Given the description of an element on the screen output the (x, y) to click on. 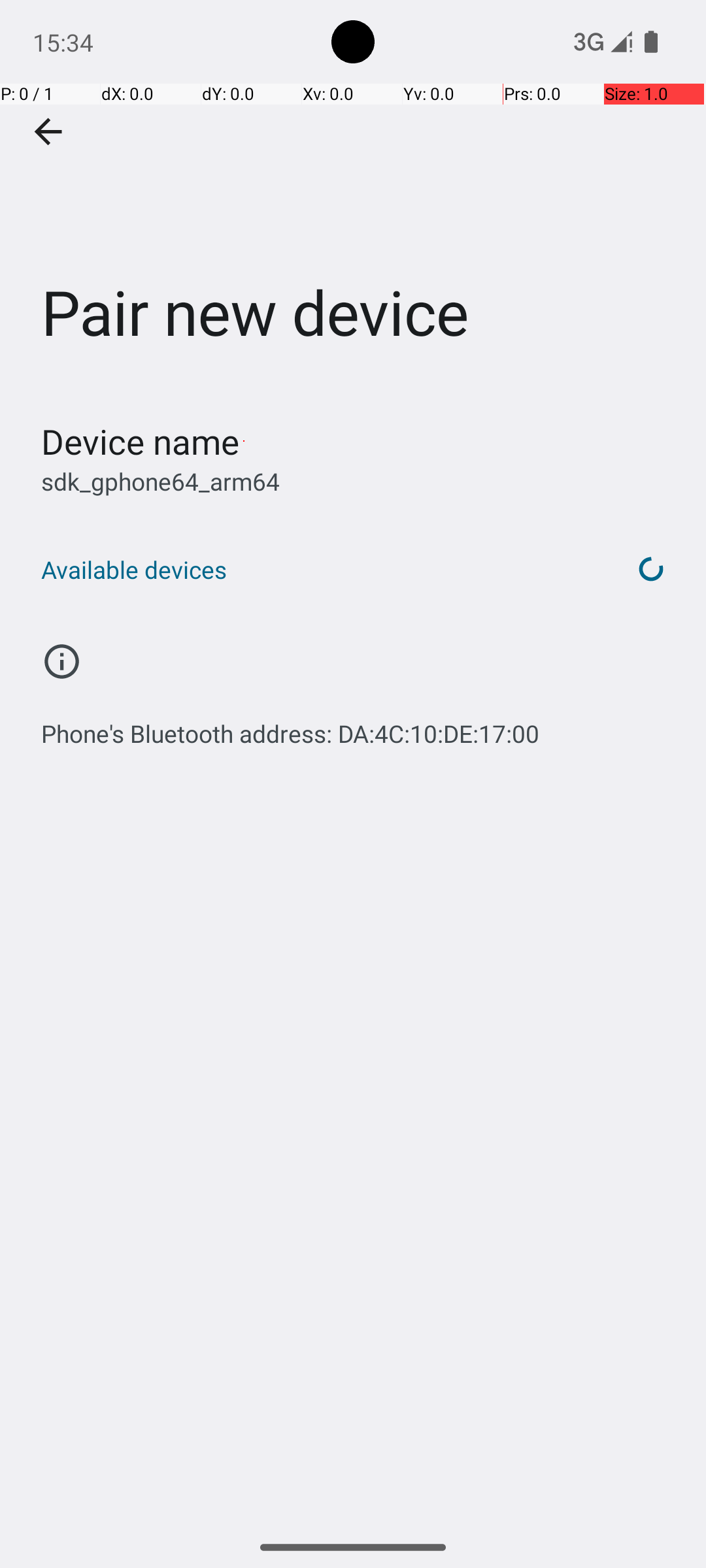
Pair new device Element type: android.widget.FrameLayout (353, 195)
Device name Element type: android.widget.TextView (140, 441)
Available devices Element type: android.widget.TextView (318, 569)
Phone's Bluetooth address: DA:4C:10:DE:17:00 Element type: android.widget.TextView (290, 726)
